Given the description of an element on the screen output the (x, y) to click on. 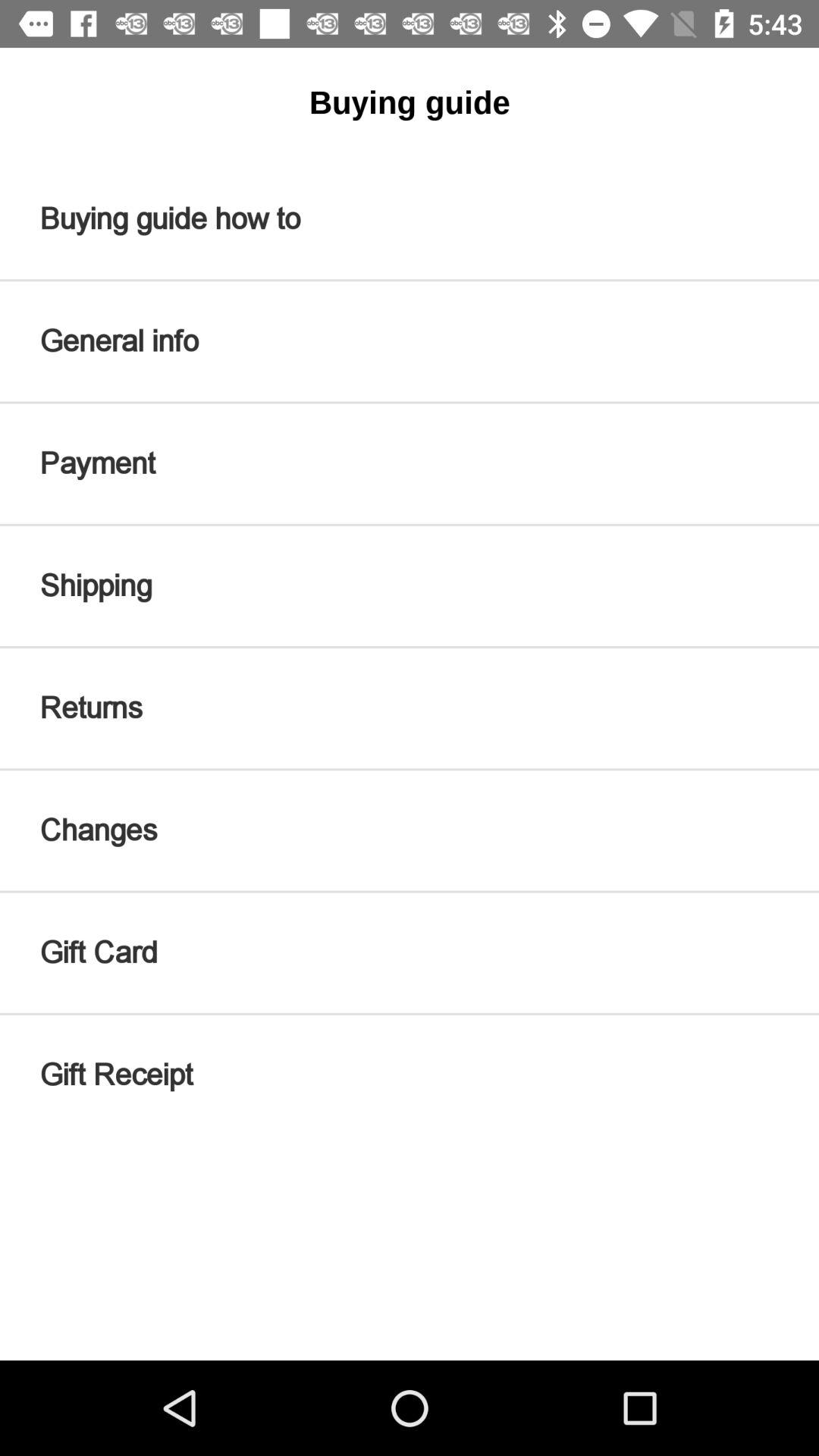
press icon below the returns icon (409, 830)
